Given the description of an element on the screen output the (x, y) to click on. 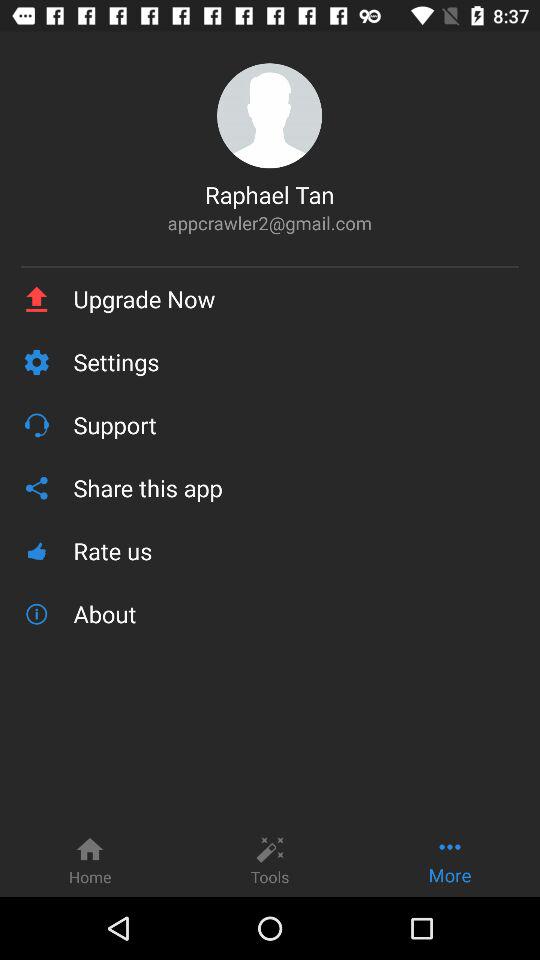
scroll to upgrade now (296, 299)
